Given the description of an element on the screen output the (x, y) to click on. 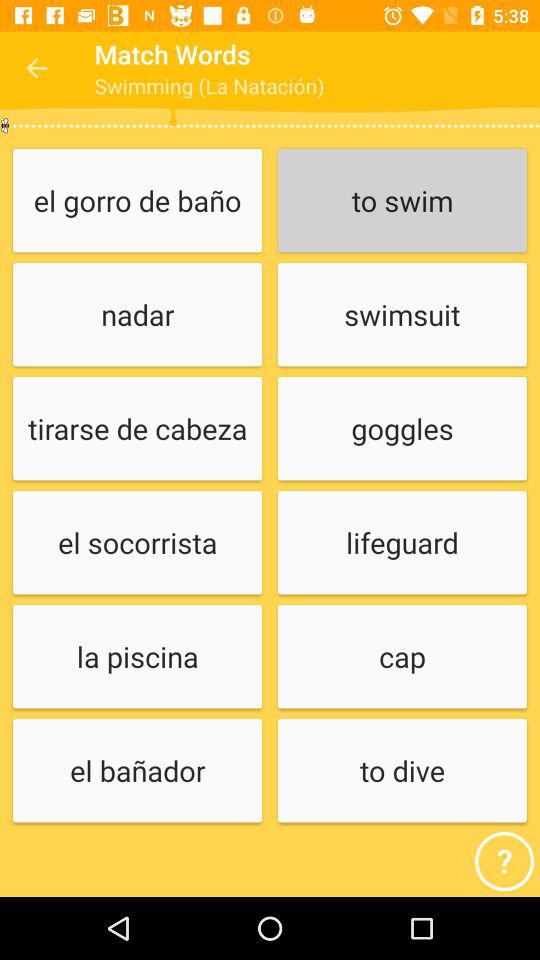
jump to goggles icon (402, 429)
